Given the description of an element on the screen output the (x, y) to click on. 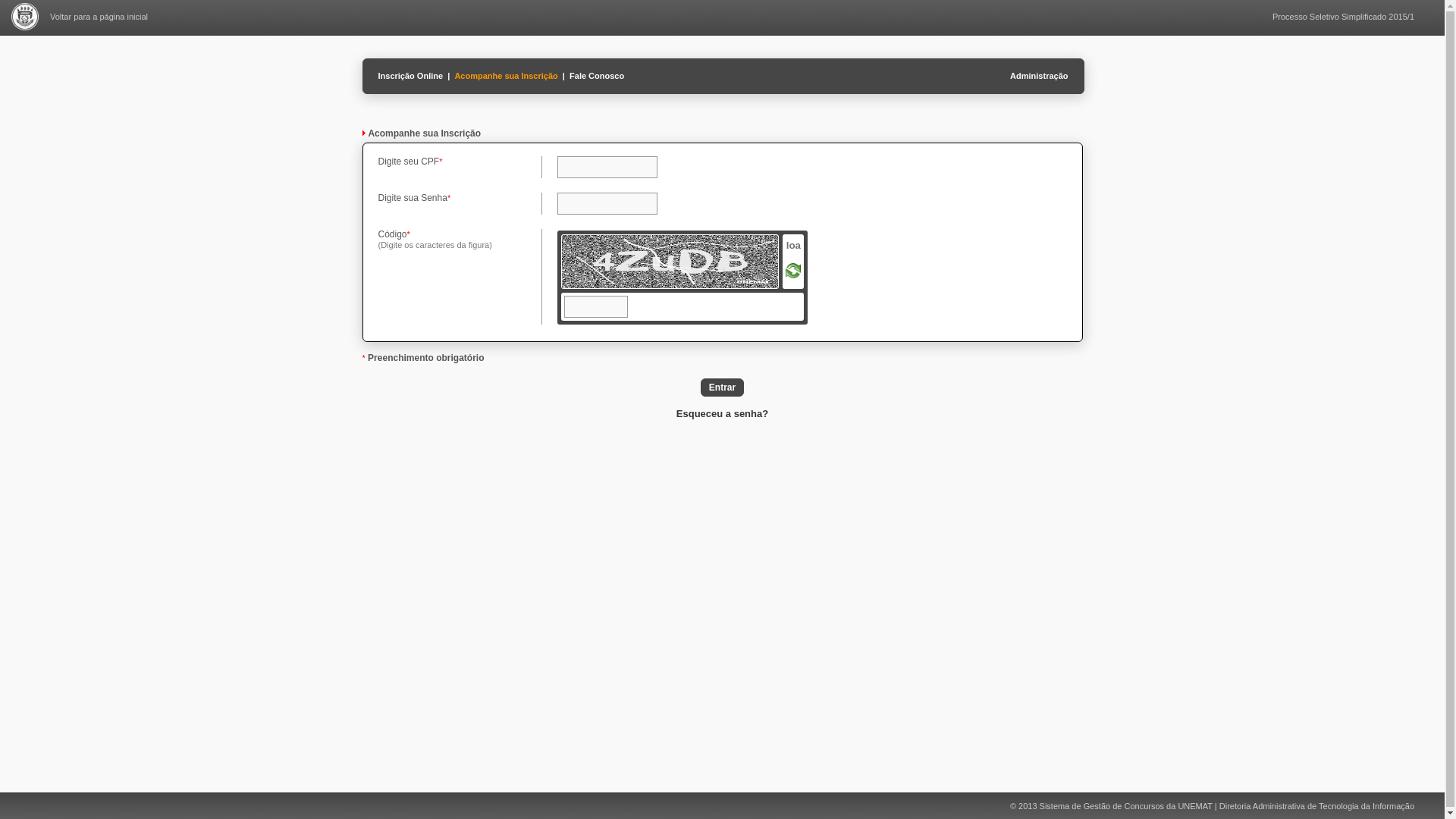
Processo Seletivo Simplificado 2015/1 Element type: text (1343, 16)
Recarregar Imagem Element type: hover (792, 274)
Entrar Element type: hover (721, 387)
Fale Conosco Element type: text (596, 75)
Esqueceu a senha? Element type: text (722, 413)
Entrar Element type: text (721, 387)
Universidade do Estado de Mato Grosso Element type: hover (24, 26)
